Given the description of an element on the screen output the (x, y) to click on. 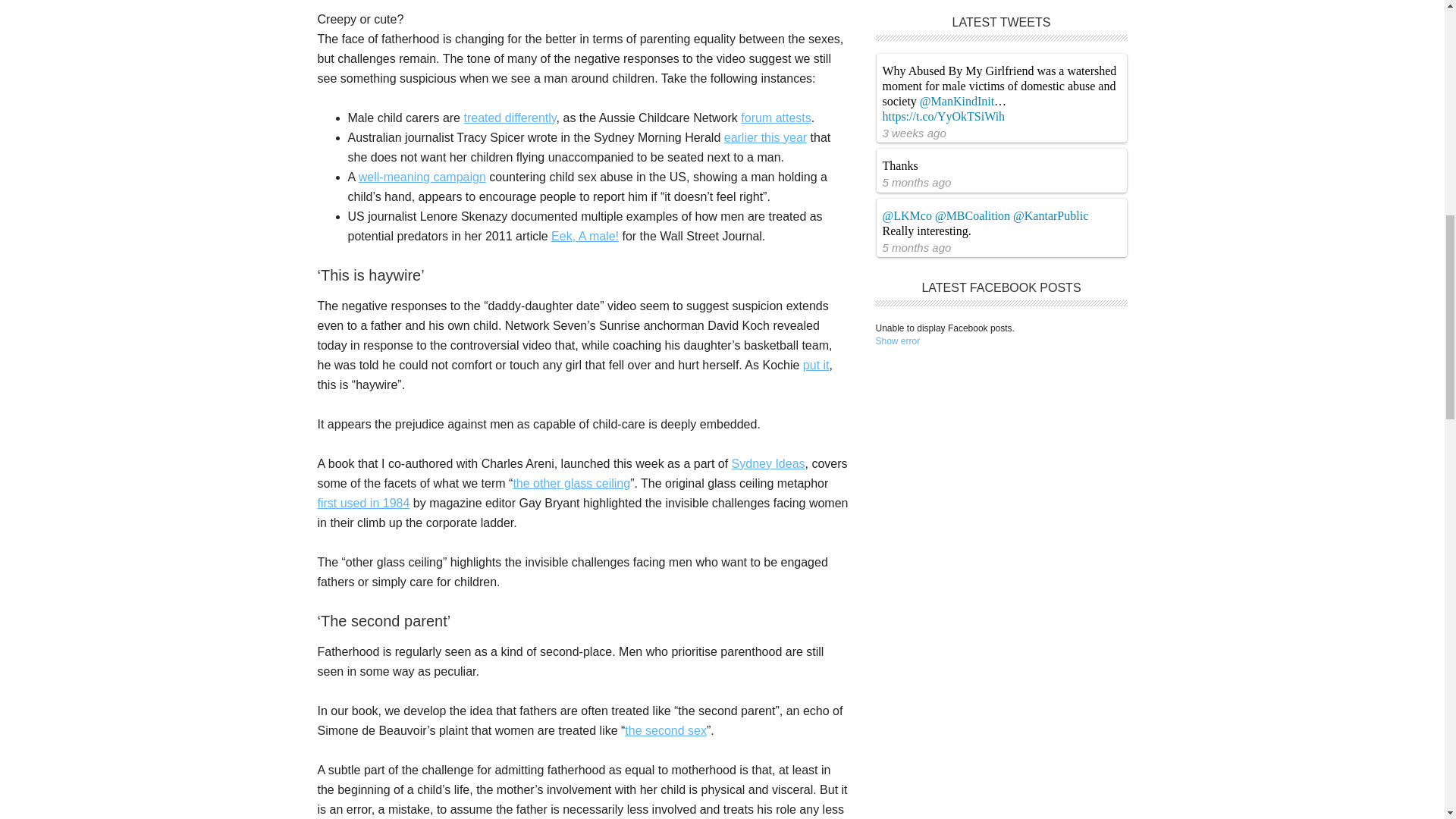
Sydney Ideas (768, 463)
well-meaning campaign (422, 176)
earlier this year (764, 137)
forum attests (775, 117)
first used in 1984 (363, 502)
put it (816, 364)
Eek, A male! (584, 236)
treated differently (509, 117)
the other glass ceiling (571, 482)
the second sex (665, 730)
